Given the description of an element on the screen output the (x, y) to click on. 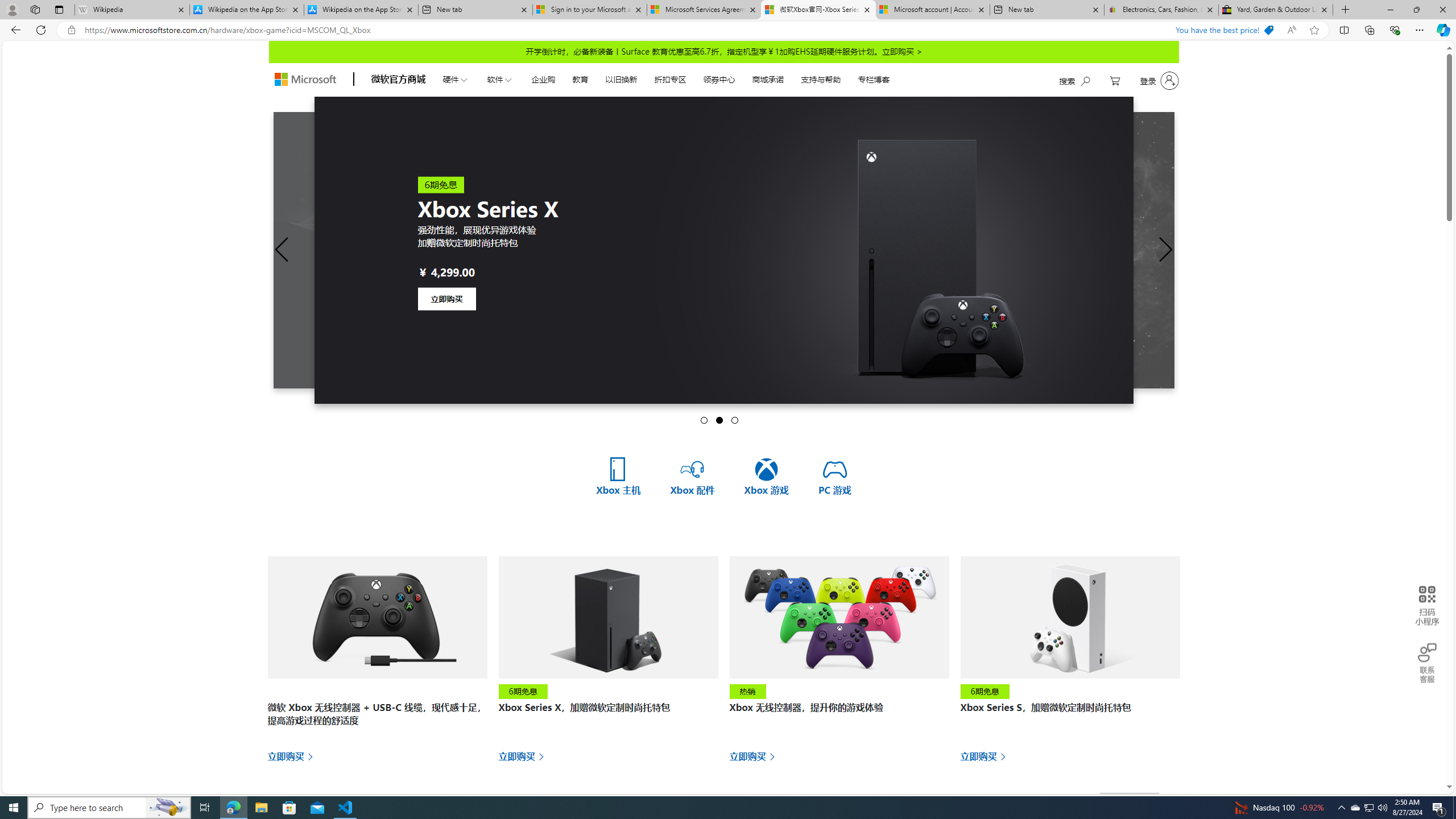
Go to slide 2 (719, 419)
Electronics, Cars, Fashion, Collectibles & More | eBay (1161, 9)
